Given the description of an element on the screen output the (x, y) to click on. 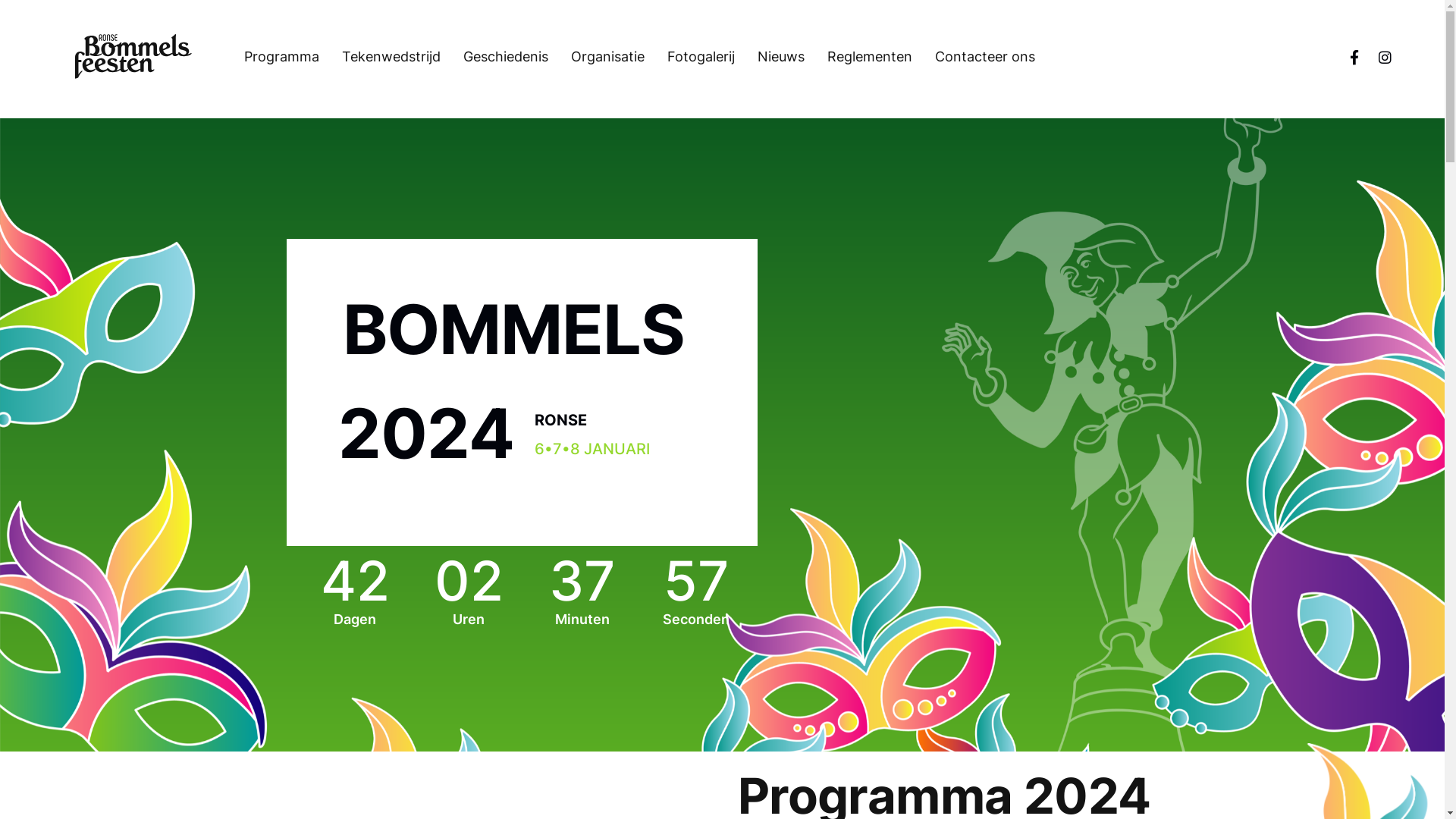
Programma Element type: text (293, 56)
Nieuws Element type: text (792, 56)
Fotogalerij Element type: text (712, 56)
Contacteer ons Element type: text (996, 56)
Geschiedenis Element type: text (517, 56)
Tekenwedstrijd Element type: text (402, 56)
Organisatie Element type: text (619, 56)
logo-bommels Element type: hover (133, 56)
Reglementen Element type: text (881, 56)
